Given the description of an element on the screen output the (x, y) to click on. 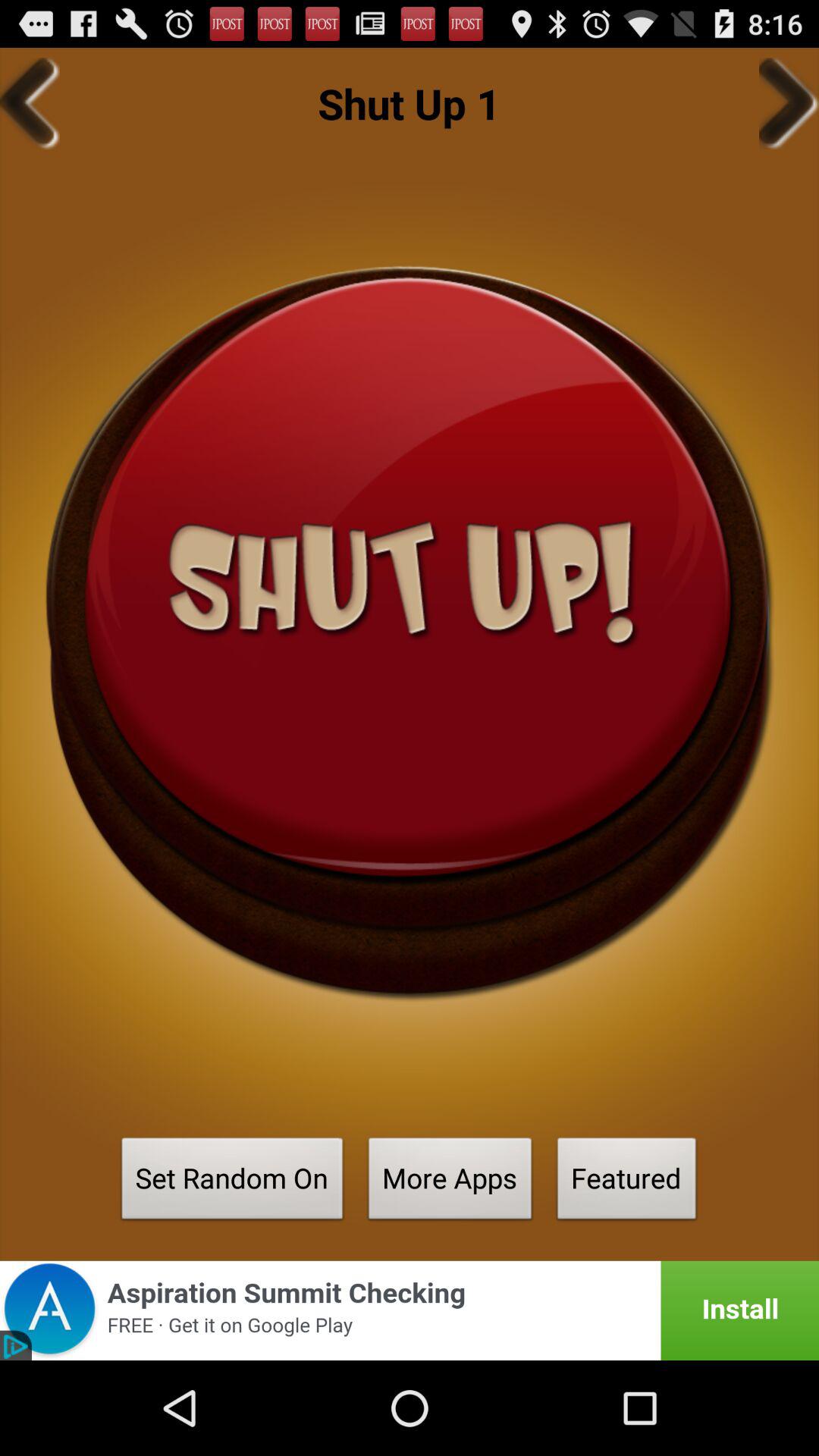
select icon at the top left corner (29, 103)
